Given the description of an element on the screen output the (x, y) to click on. 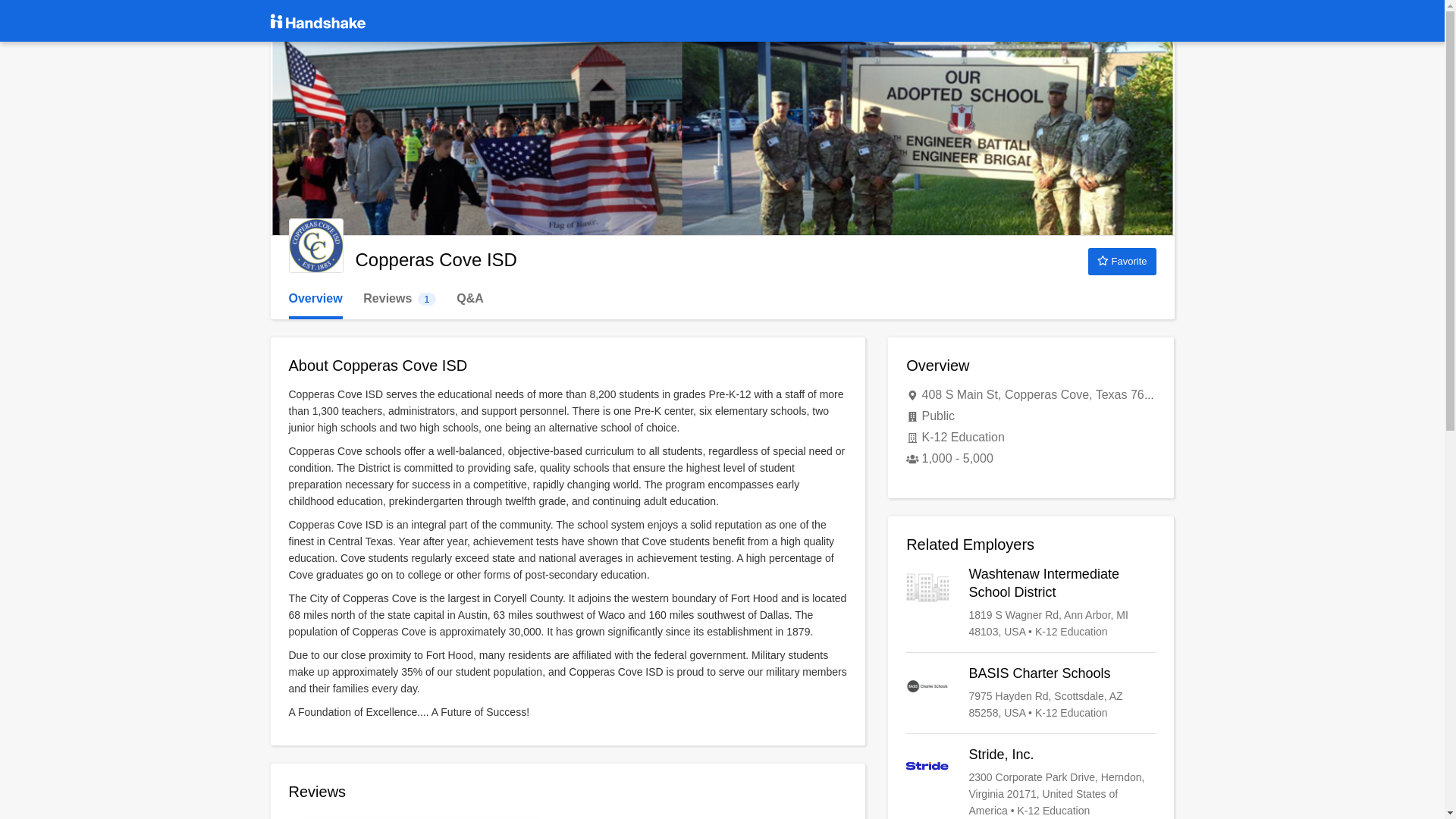
Favorite (1121, 261)
Washtenaw Intermediate School District (398, 298)
Overview (1030, 602)
BASIS Charter Schools (315, 298)
Copperas Cove ISD (1030, 693)
Stride, Inc. (315, 245)
